Given the description of an element on the screen output the (x, y) to click on. 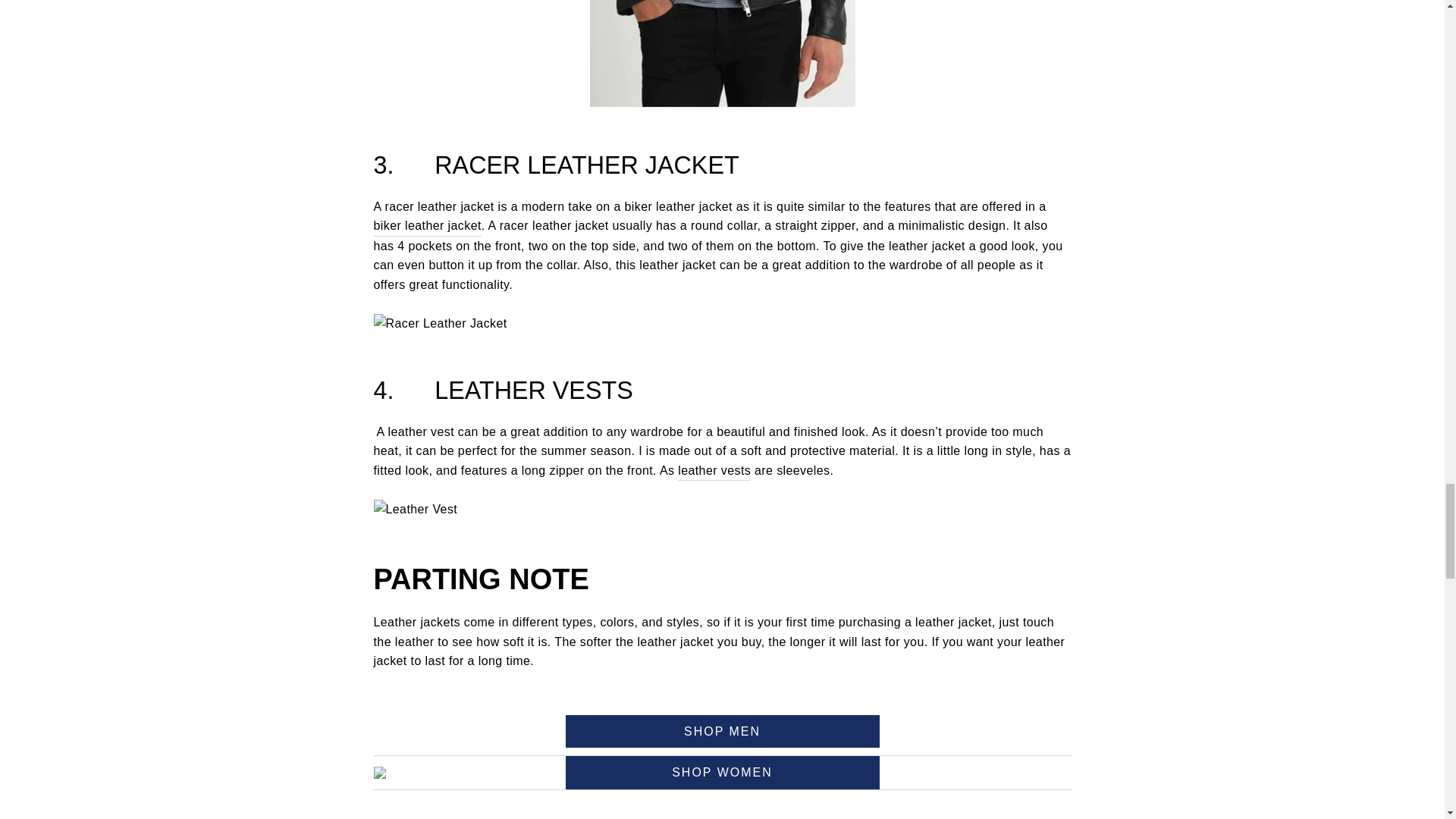
View Women Leather Jackets (722, 772)
View Men Leather Jackets (722, 731)
Leather Biker Jacket (426, 226)
Leather Vest (714, 471)
